Given the description of an element on the screen output the (x, y) to click on. 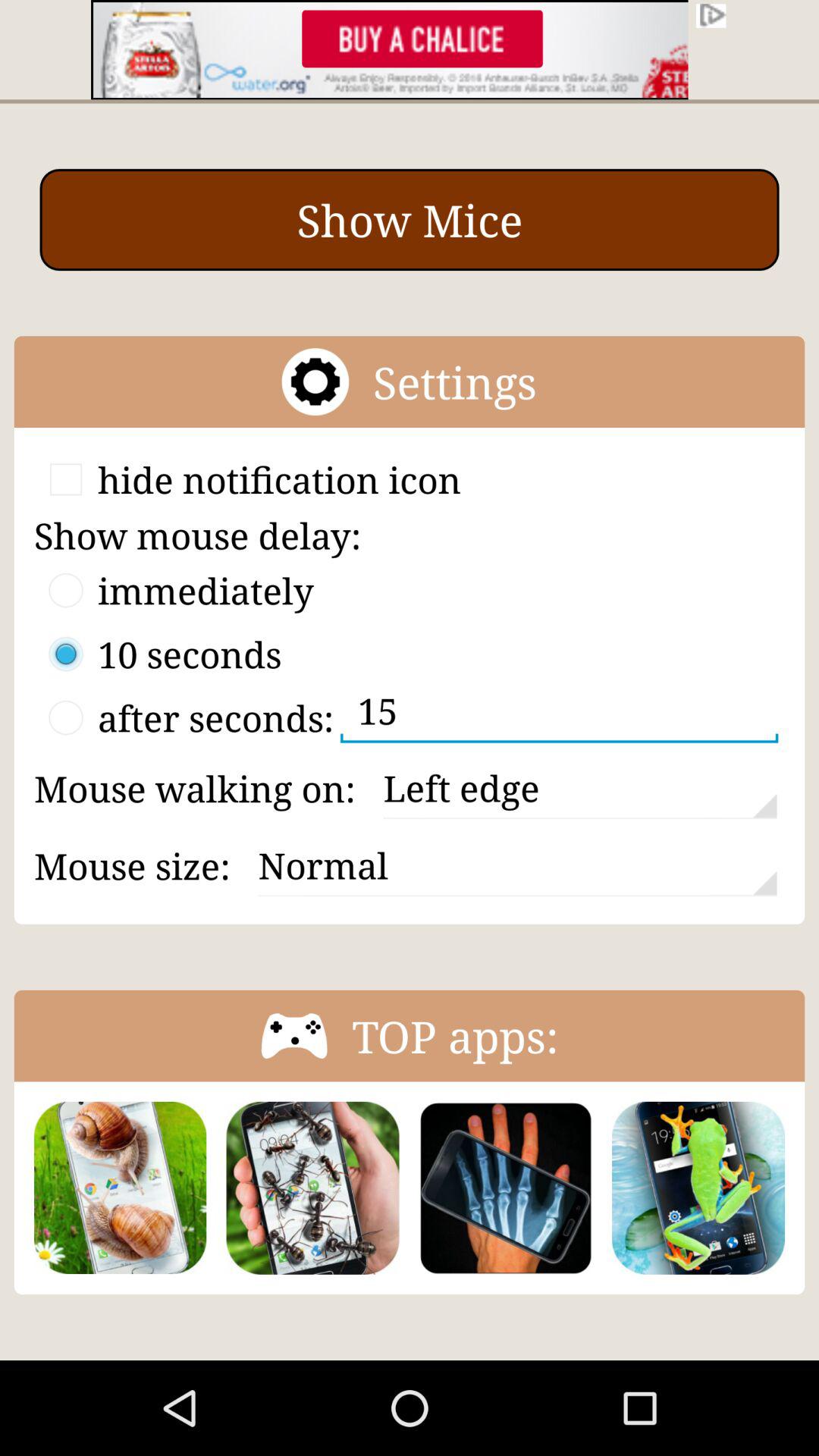
open app (697, 1187)
